Given the description of an element on the screen output the (x, y) to click on. 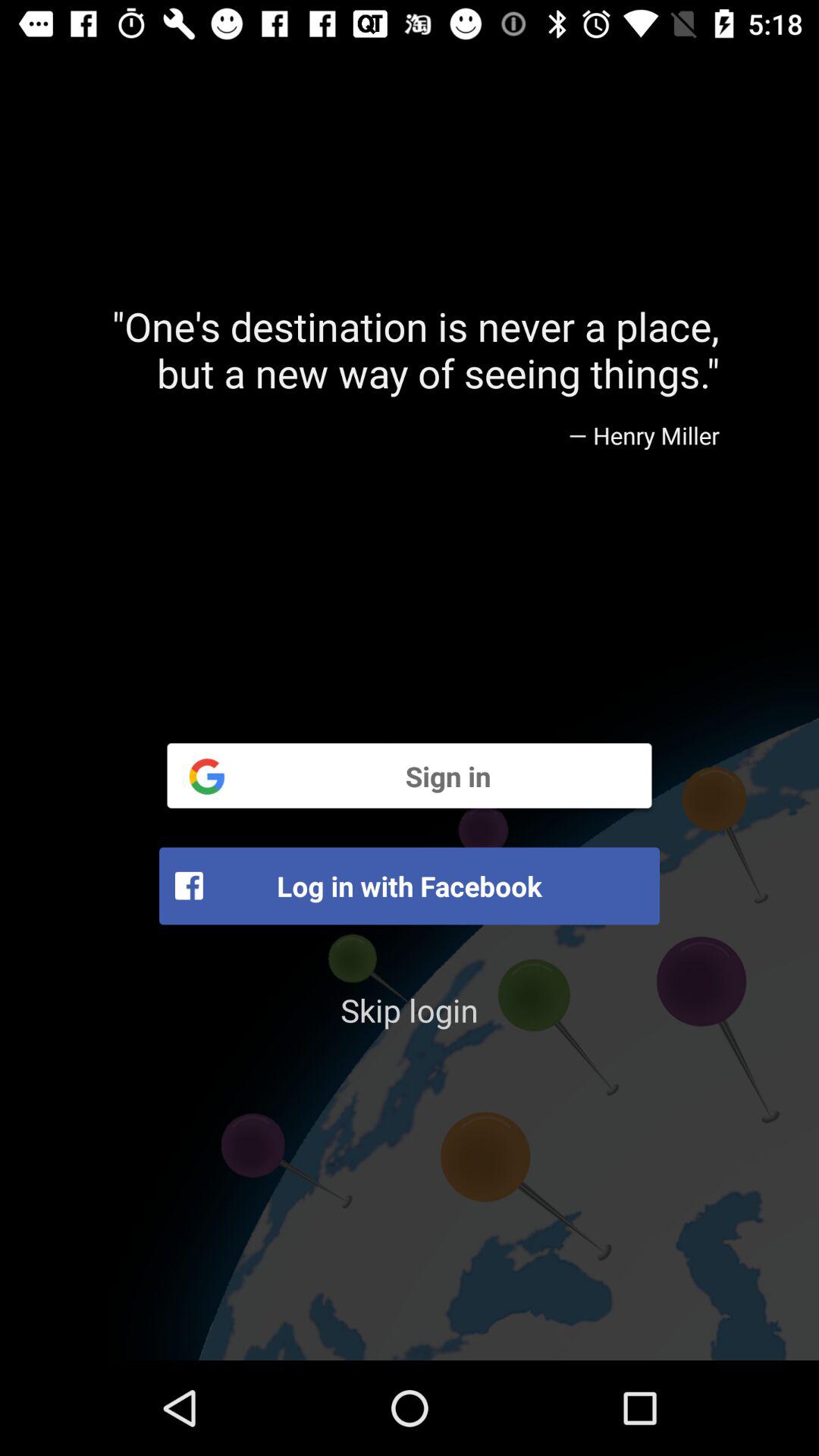
jump to skip login item (409, 1009)
